Given the description of an element on the screen output the (x, y) to click on. 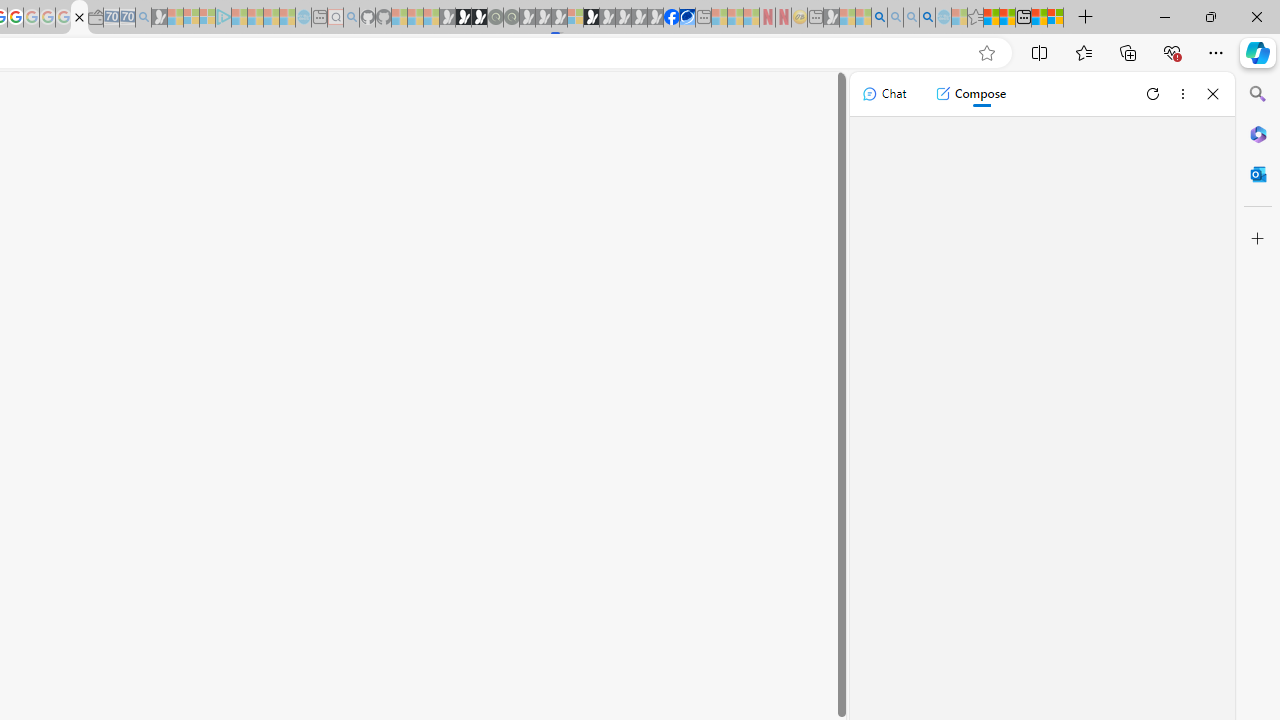
Future Focus Report 2024 - Sleeping (511, 17)
Home | Sky Blue Bikes - Sky Blue Bikes - Sleeping (303, 17)
